Given the description of an element on the screen output the (x, y) to click on. 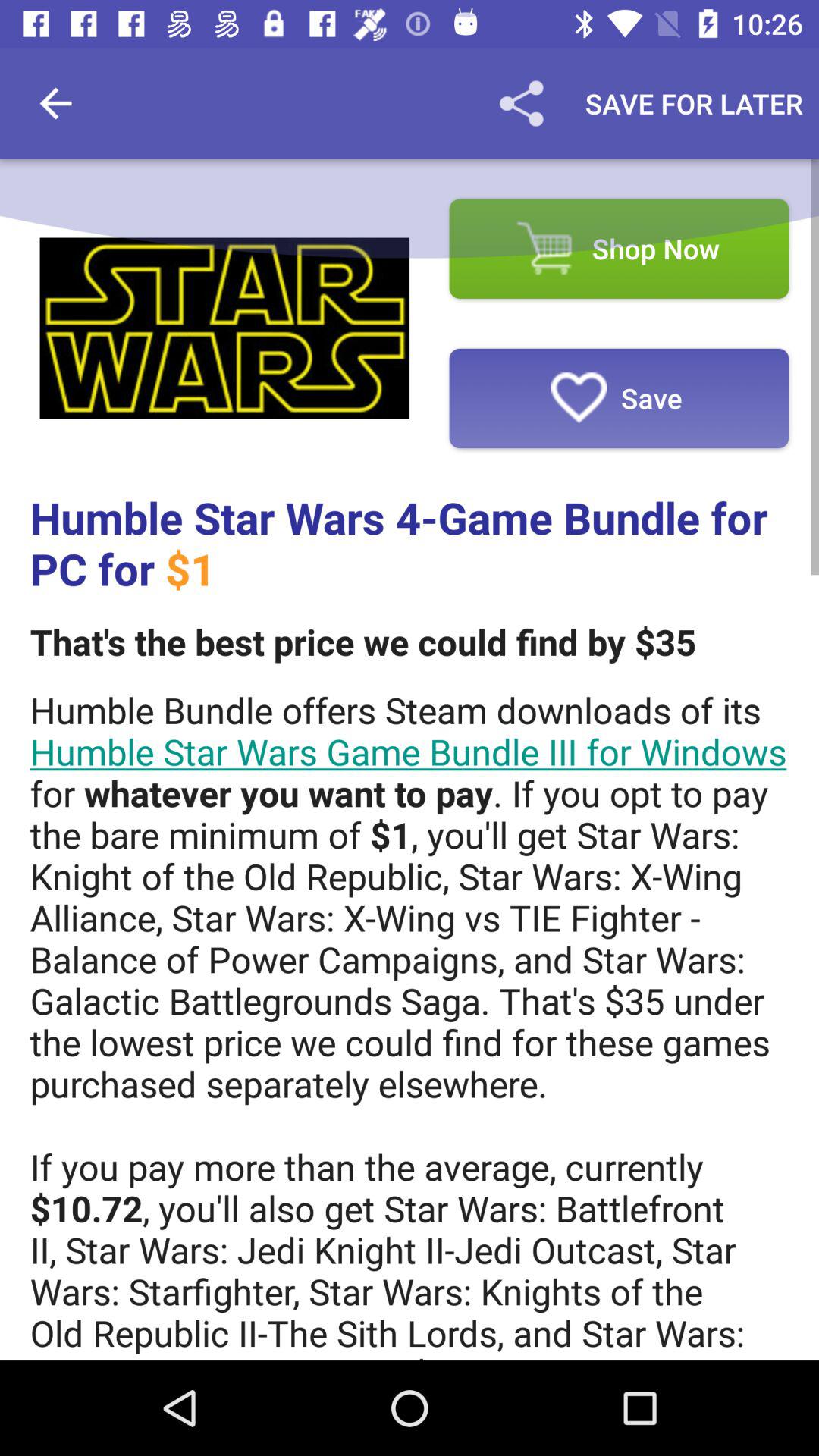
press the icon to the left of the shop now icon (224, 328)
